Given the description of an element on the screen output the (x, y) to click on. 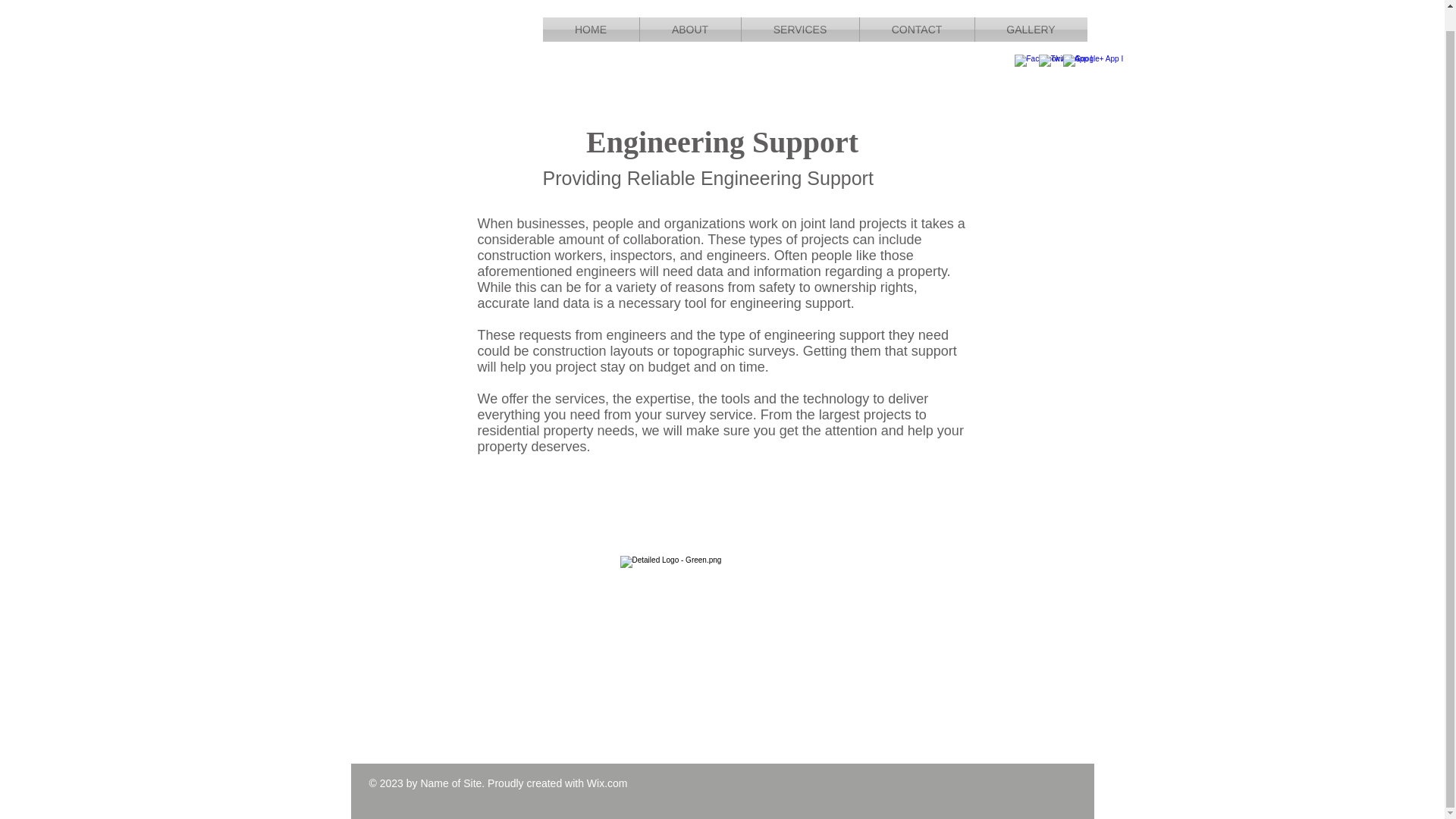
ABOUT (690, 10)
HOME (591, 10)
CONTACT (917, 10)
SERVICES (800, 10)
Wix.com (606, 783)
GALLERY (1031, 10)
